Given the description of an element on the screen output the (x, y) to click on. 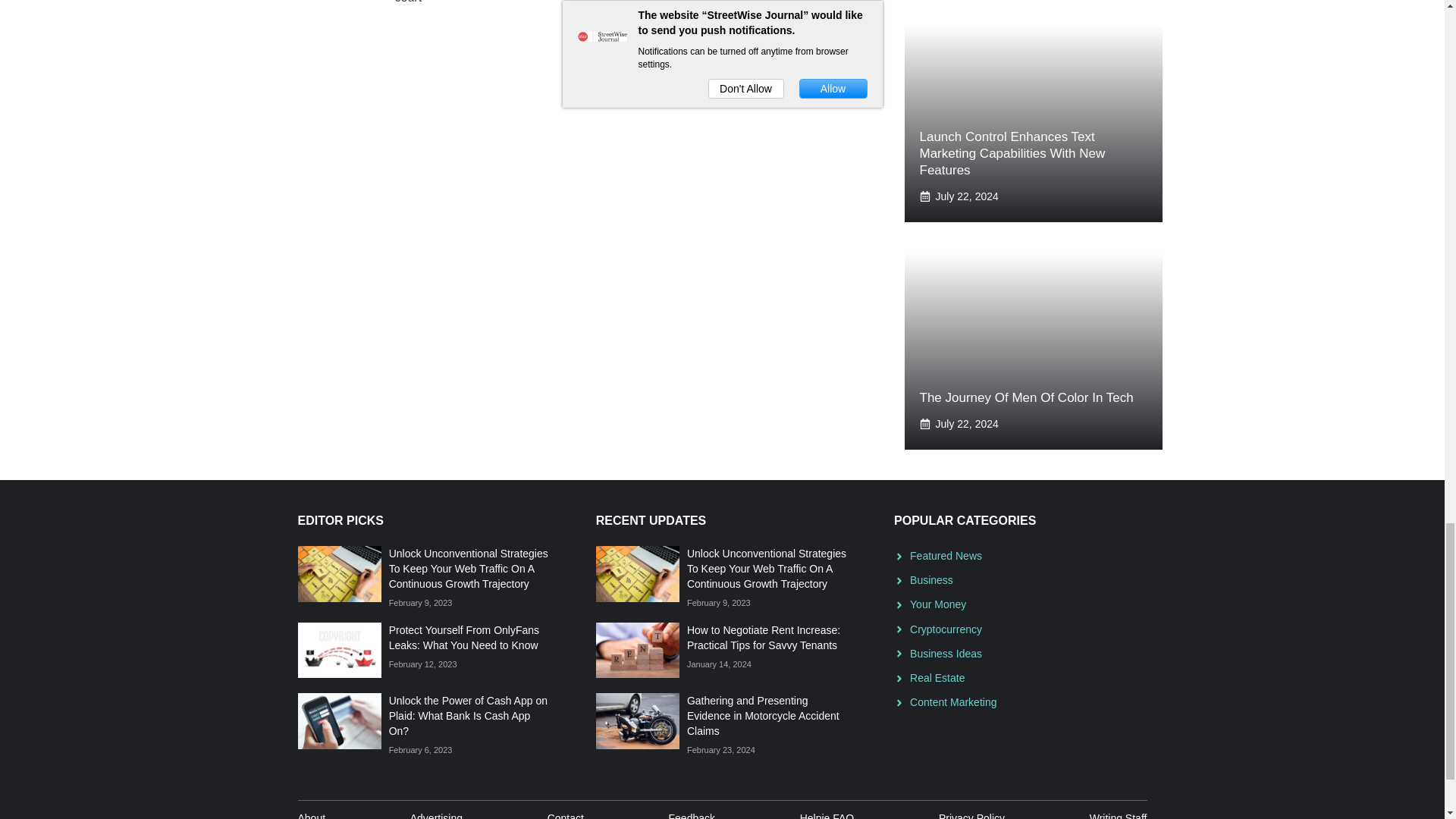
The Journey Of Men Of Color In Tech (1025, 397)
Protect Yourself From OnlyFans Leaks: What You Need to Know (463, 637)
